Given the description of an element on the screen output the (x, y) to click on. 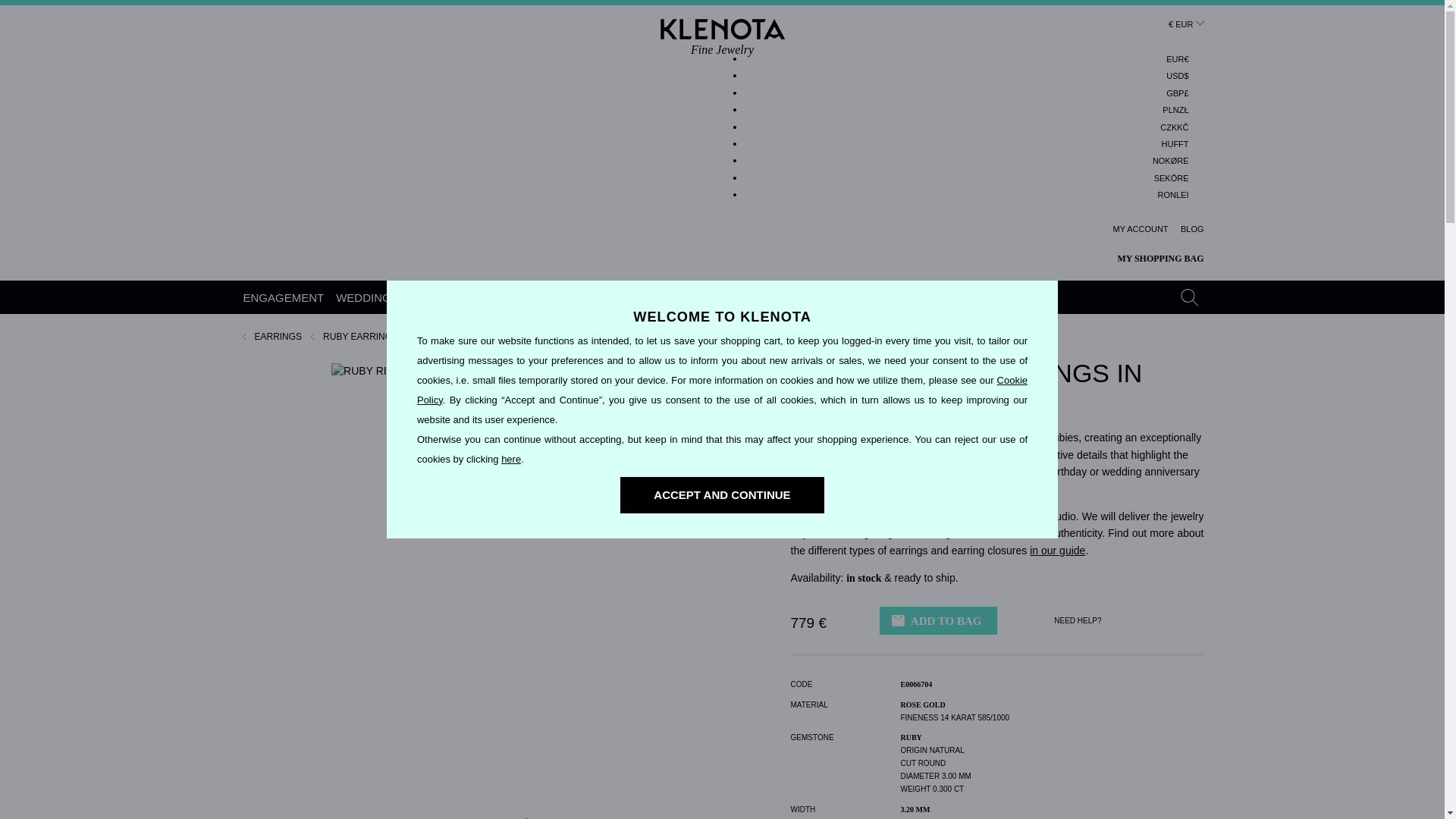
MY SHOPPING BAG (1150, 258)
BLOG (1192, 228)
ENGAGEMENT (1173, 195)
MY ACCOUNT (283, 296)
